Given the description of an element on the screen output the (x, y) to click on. 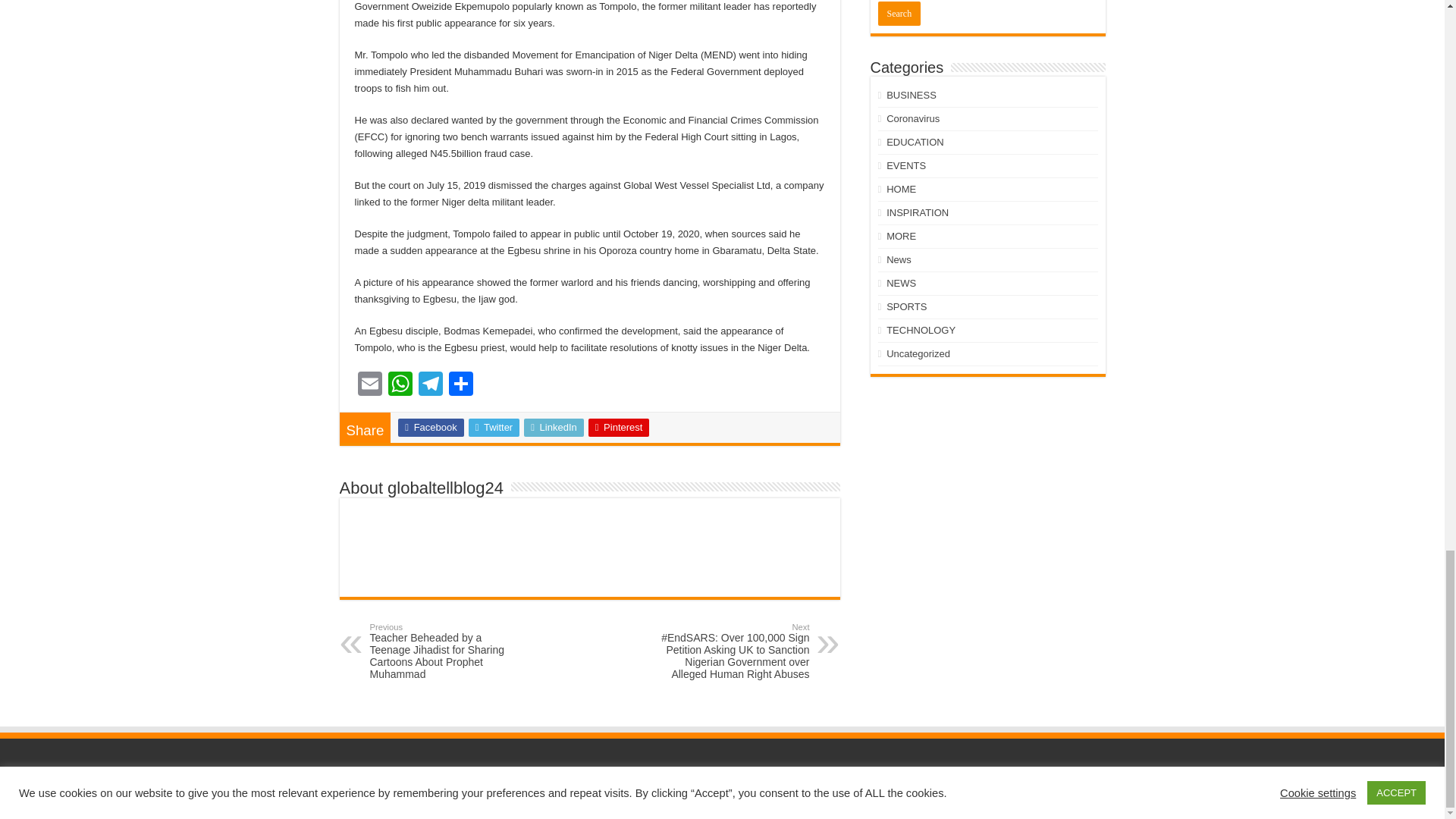
Search (899, 13)
Search (899, 13)
